Given the description of an element on the screen output the (x, y) to click on. 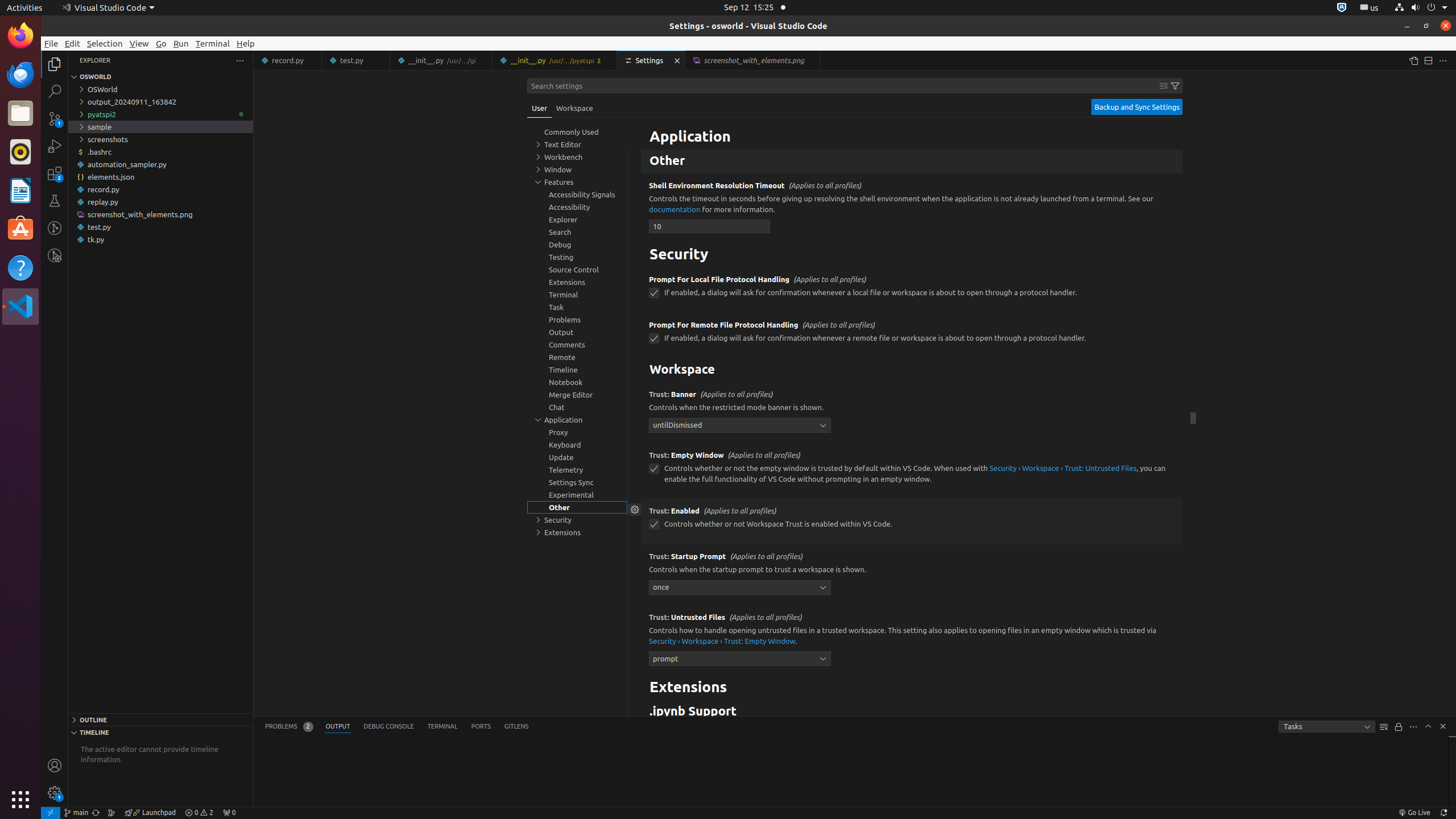
automation_sampler.py Element type: tree-item (160, 164)
Clear Settings Search Input Element type: push-button (1163, 85)
Extensions (Ctrl+Shift+X) - 2 require restart Extensions (Ctrl+Shift+X) - 2 require restart Element type: page-tab (54, 173)
application.shellEnvironmentResolutionTimeout Element type: spin-button (709, 225)
